Given the description of an element on the screen output the (x, y) to click on. 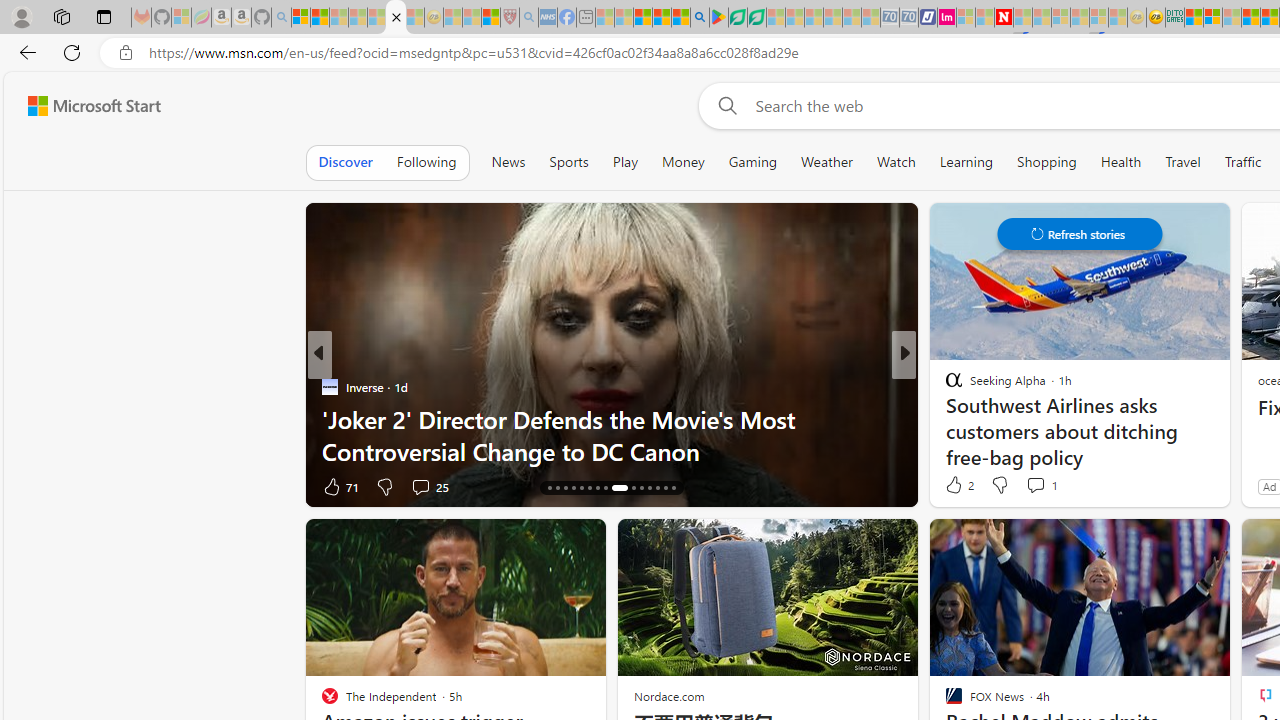
310 Like (959, 486)
Following (426, 162)
MSNBC - MSN (1194, 17)
Play (625, 162)
Scripps News (944, 386)
View comments 20 Comment (1042, 485)
Traffic (1243, 161)
Recipes - MSN - Sleeping (453, 17)
SB Nation (944, 386)
Sports (569, 162)
Health (1121, 161)
Microsoft-Report a Concern to Bing - Sleeping (180, 17)
Trusted Community Engagement and Contributions | Guidelines (1022, 17)
